Given the description of an element on the screen output the (x, y) to click on. 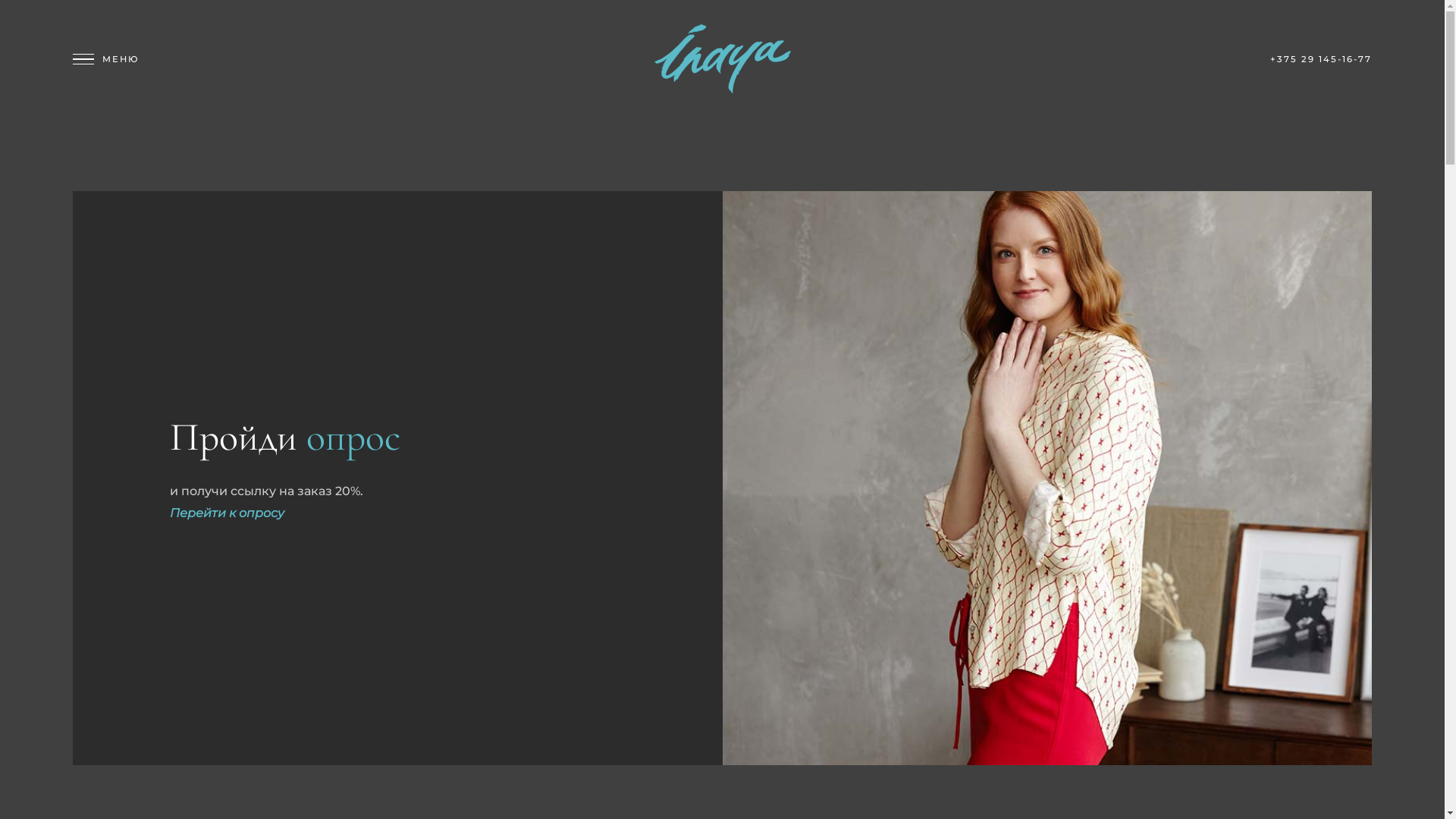
+375 29 145-16-77 Element type: text (1320, 58)
